Given the description of an element on the screen output the (x, y) to click on. 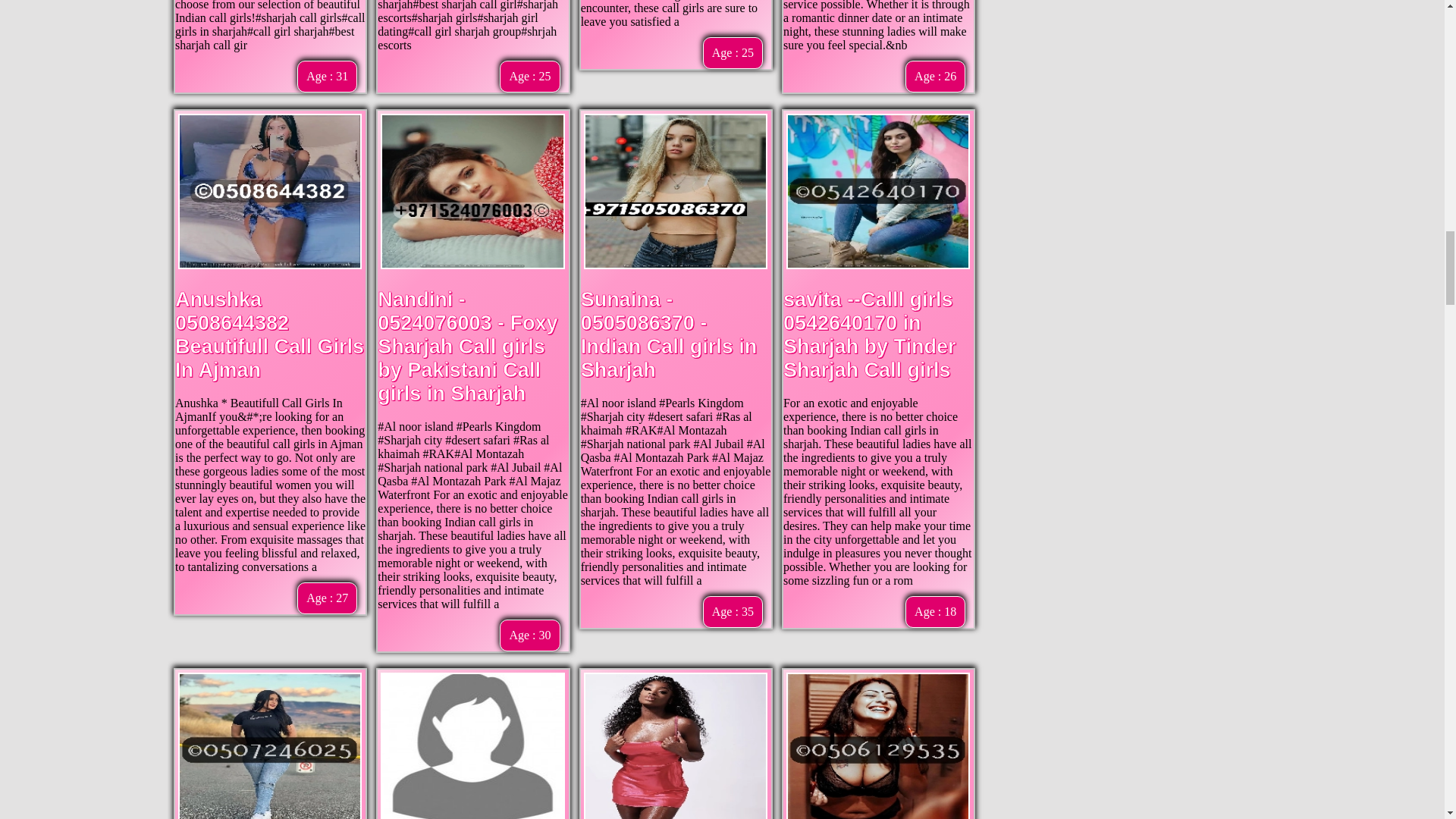
Sunaina - 0505086370 - Indian Call girls in Sharjah (668, 334)
Anushka 0508644382 Beautifull Call Girls In Ajman (269, 334)
